Given the description of an element on the screen output the (x, y) to click on. 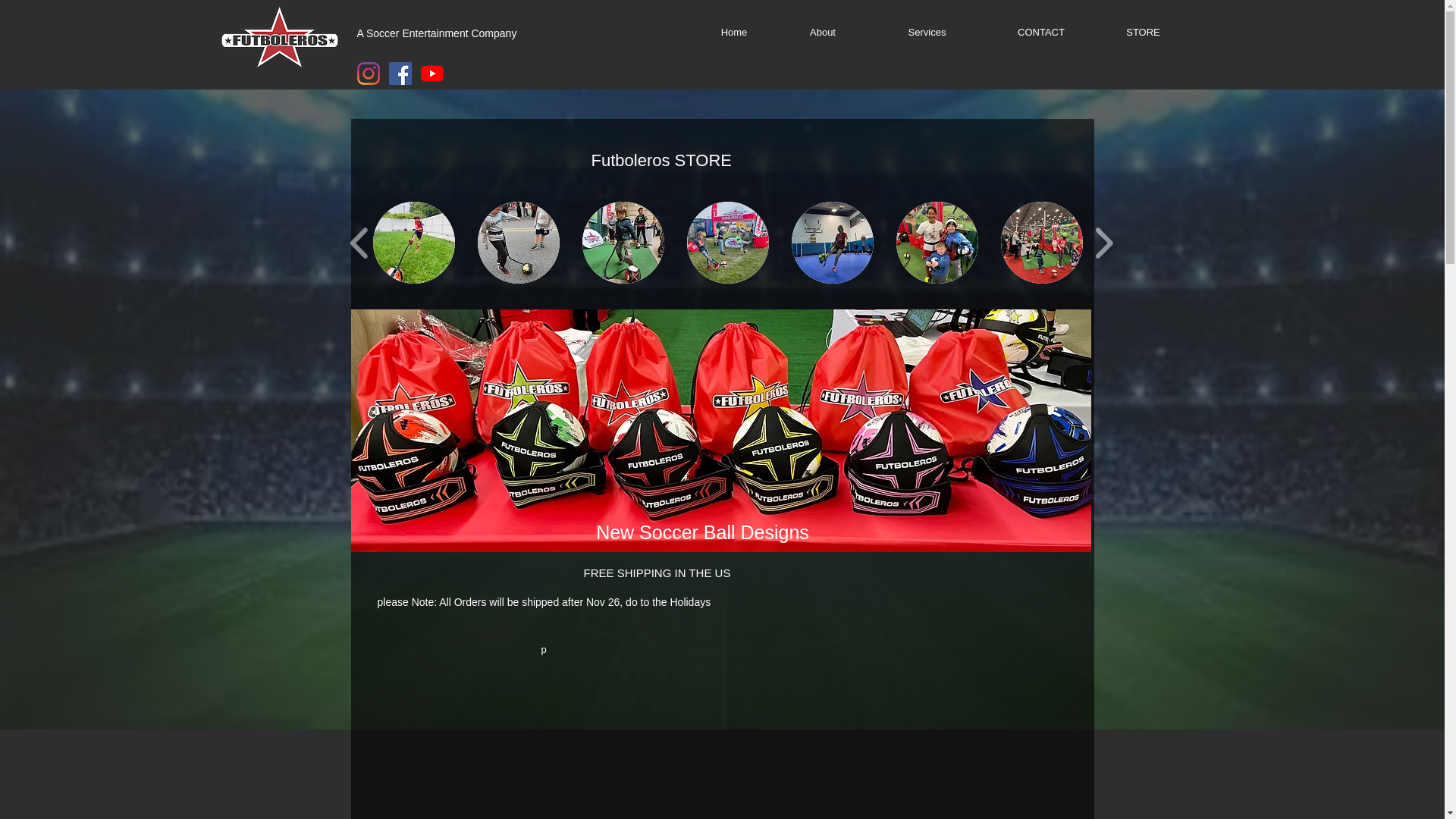
STORE (1143, 32)
About (822, 32)
Home (733, 32)
CONTACT (1040, 32)
Services (926, 32)
